Given the description of an element on the screen output the (x, y) to click on. 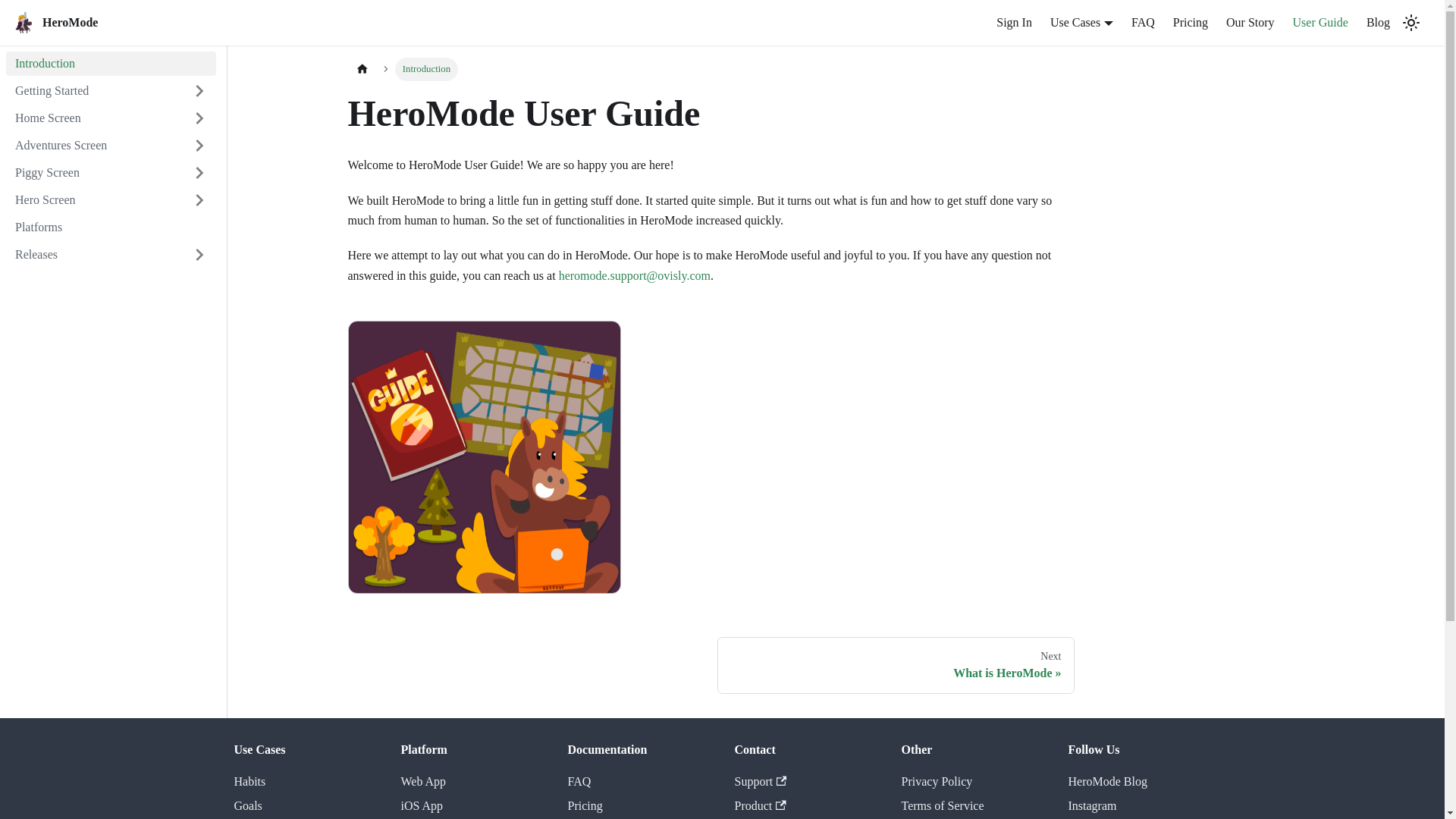
Pricing (1190, 22)
Hero Screen (110, 200)
Use Cases (1081, 21)
Goals (247, 805)
Platforms (110, 227)
Home Screen (110, 118)
Getting Started (110, 90)
User Guide (1320, 22)
Sign In (1014, 22)
Our Story (1250, 22)
